Given the description of an element on the screen output the (x, y) to click on. 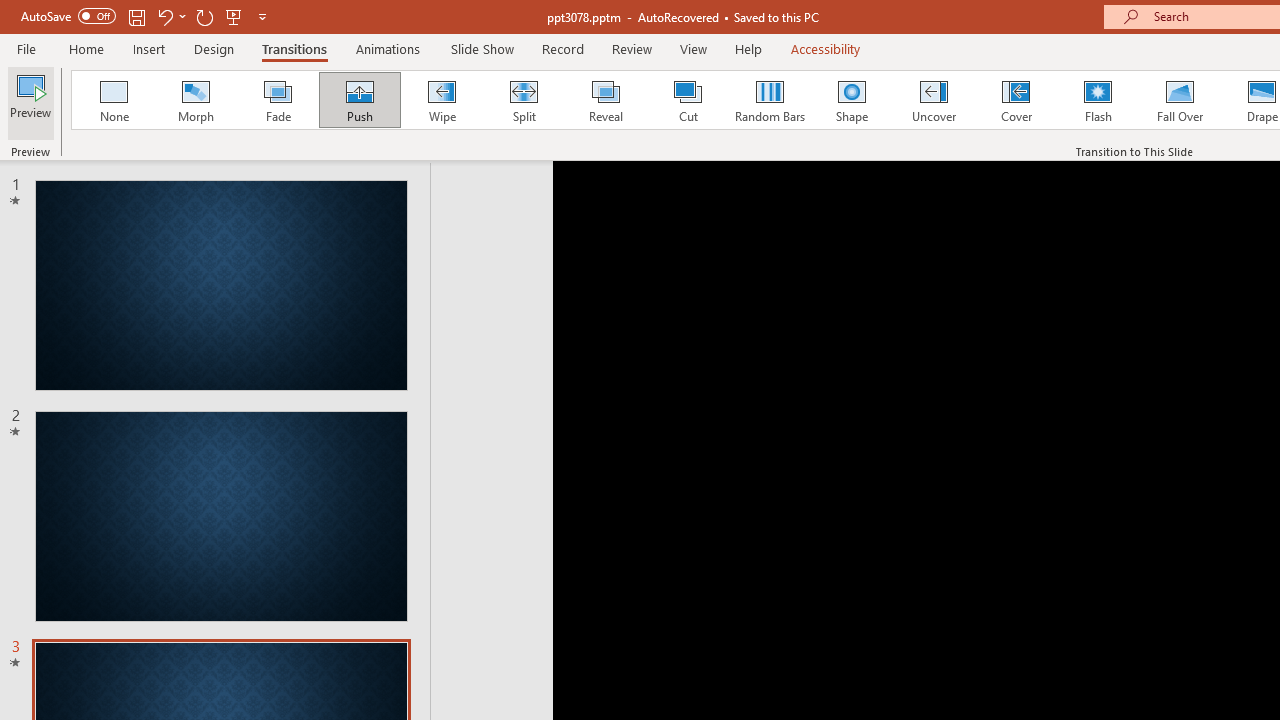
Shape (852, 100)
Uncover (934, 100)
Fade (277, 100)
Wipe (441, 100)
